Given the description of an element on the screen output the (x, y) to click on. 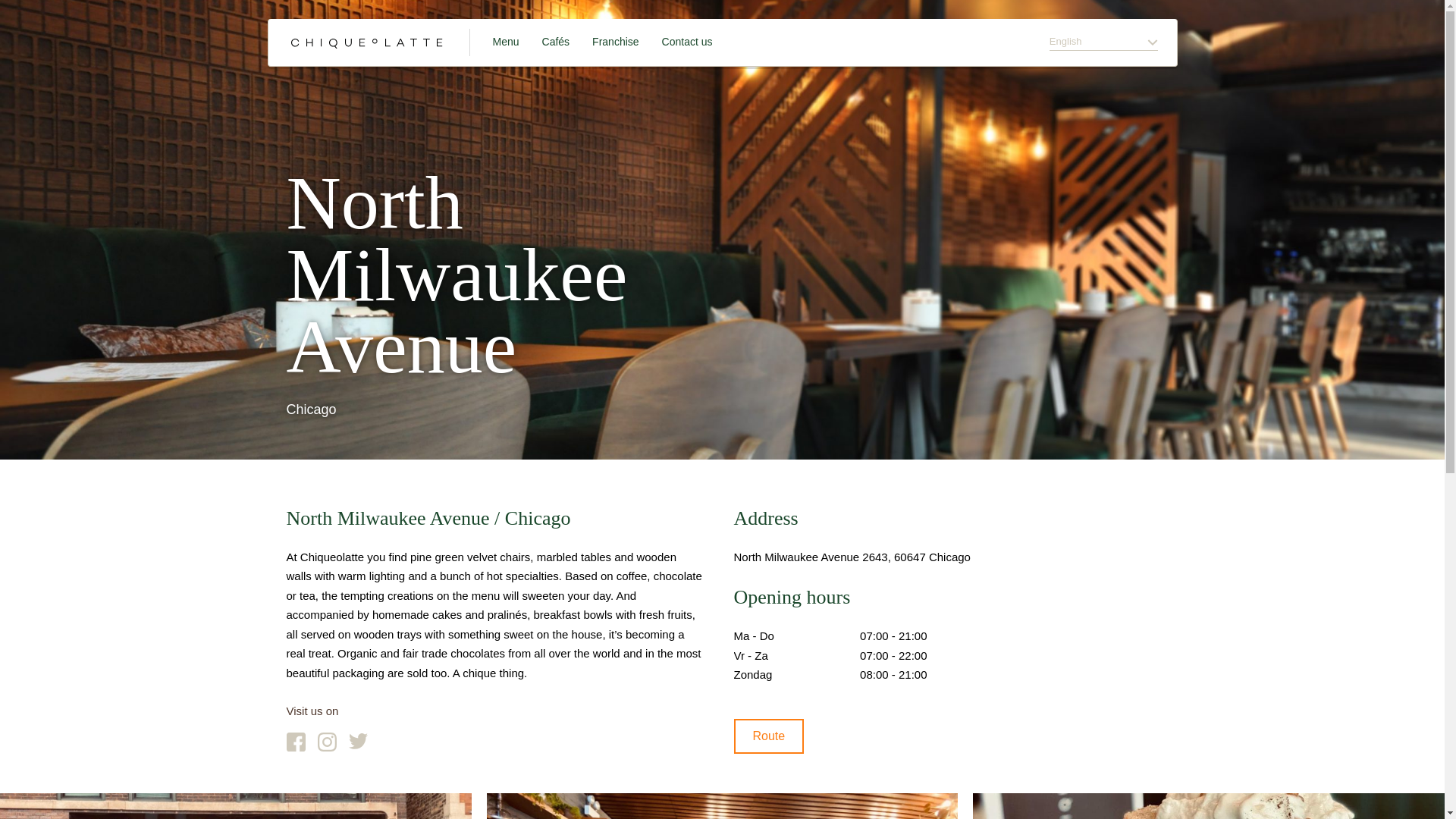
English (1103, 41)
Franchise (615, 41)
North Milwaukee Avenue 2643, 60647 Chicago (852, 556)
Contact us (687, 41)
Route (769, 736)
